Given the description of an element on the screen output the (x, y) to click on. 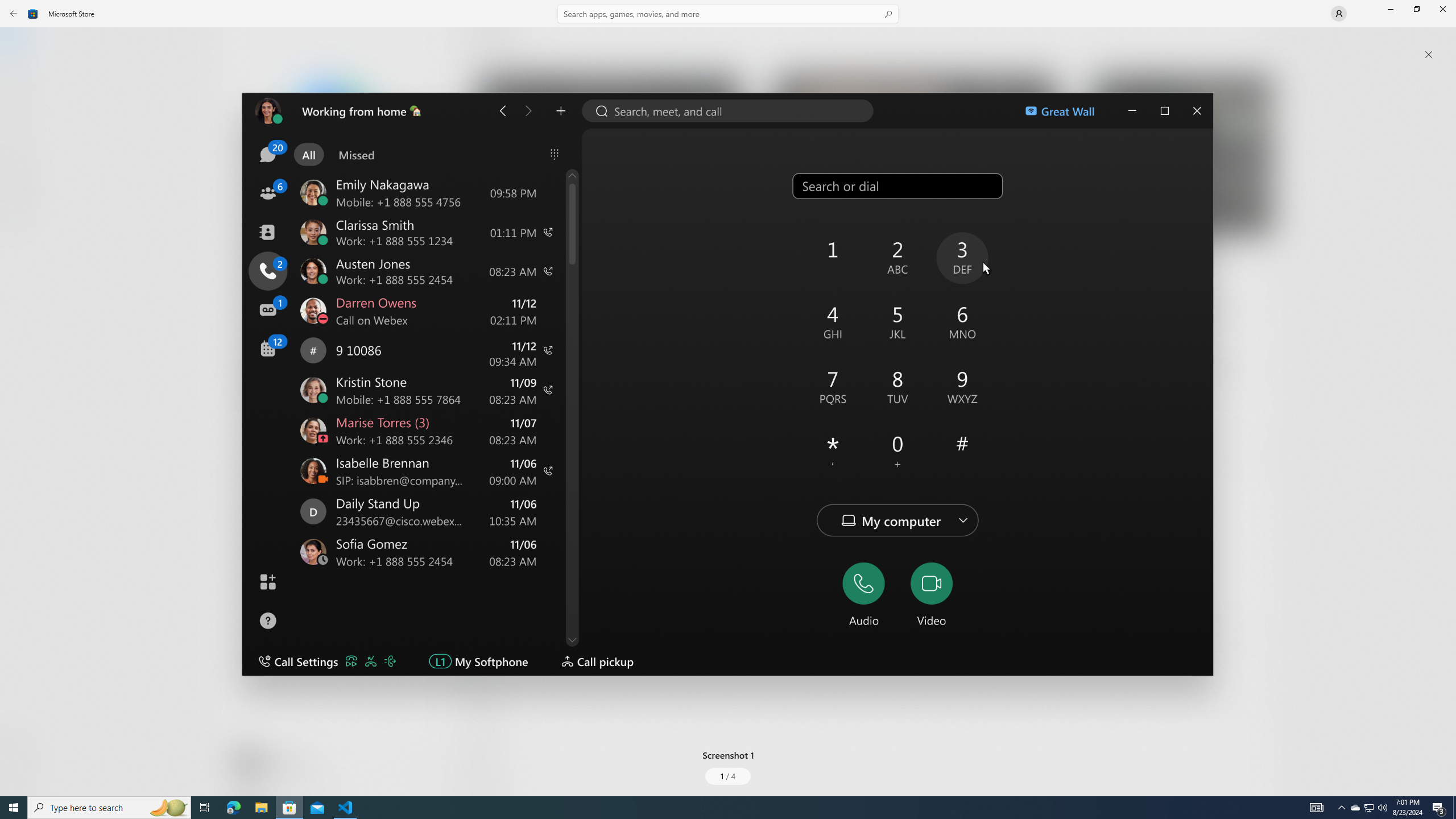
Arcade (20, 150)
Entertainment (20, 185)
Close Microsoft Store (1442, 9)
Apps (20, 80)
See all (1253, 41)
AutomationID: NavigationControl (728, 398)
Minimize Microsoft Store (1390, 9)
Sign in to review (501, 556)
Install (334, 244)
What's New (20, 738)
AI Hub (20, 221)
No, this was not helpful. 23 votes. (1219, 636)
Class: Image (727, 403)
Back (13, 13)
Age rating: EVERYONE. Click for more information. (287, 762)
